Given the description of an element on the screen output the (x, y) to click on. 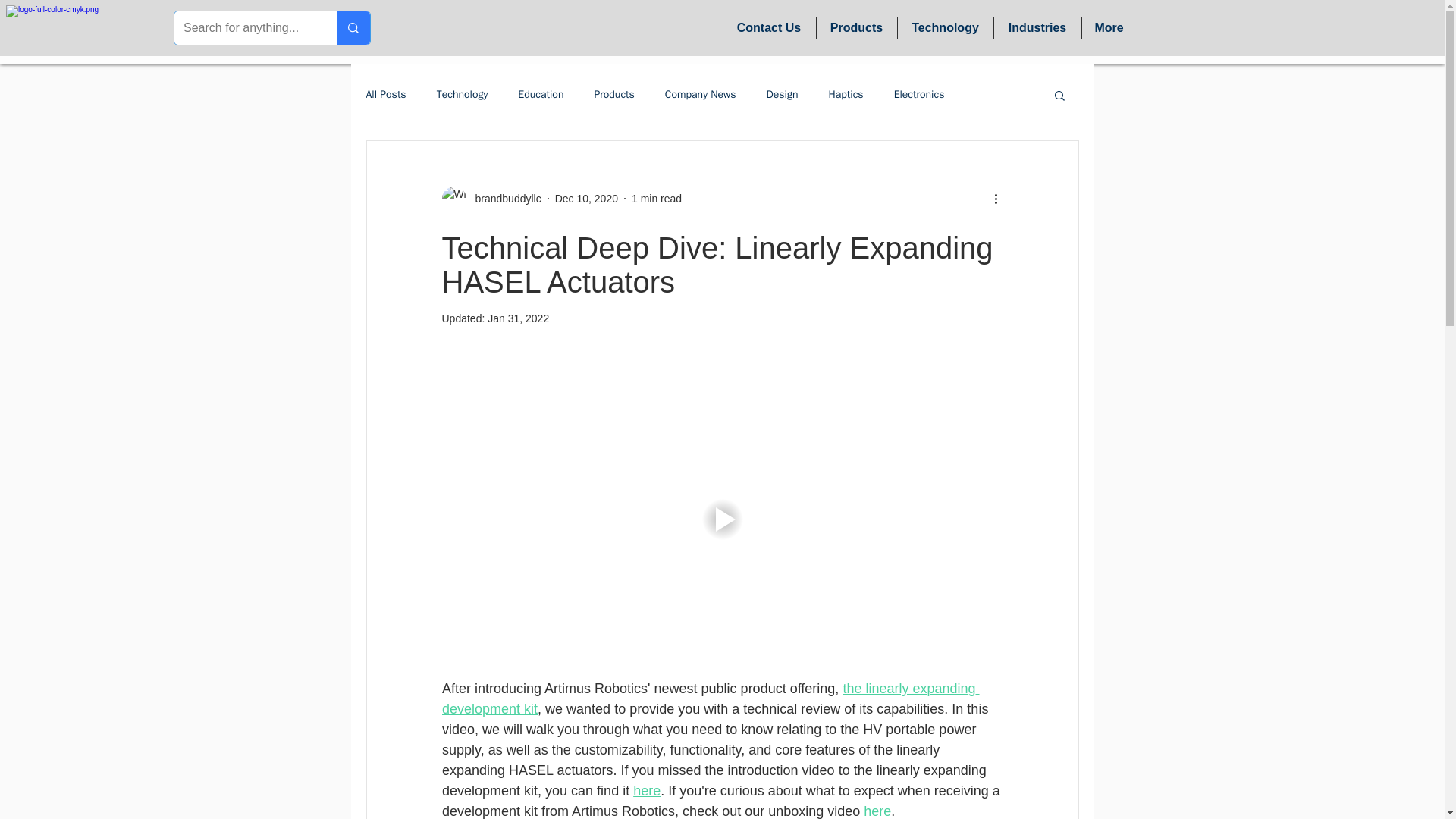
Products (613, 94)
Jan 31, 2022 (517, 318)
Education (540, 94)
the linearly expanding development kit (709, 698)
Contact Us (768, 27)
Company News (700, 94)
Electronics (918, 94)
1 min read (656, 198)
Dec 10, 2020 (585, 198)
Haptics (845, 94)
